Given the description of an element on the screen output the (x, y) to click on. 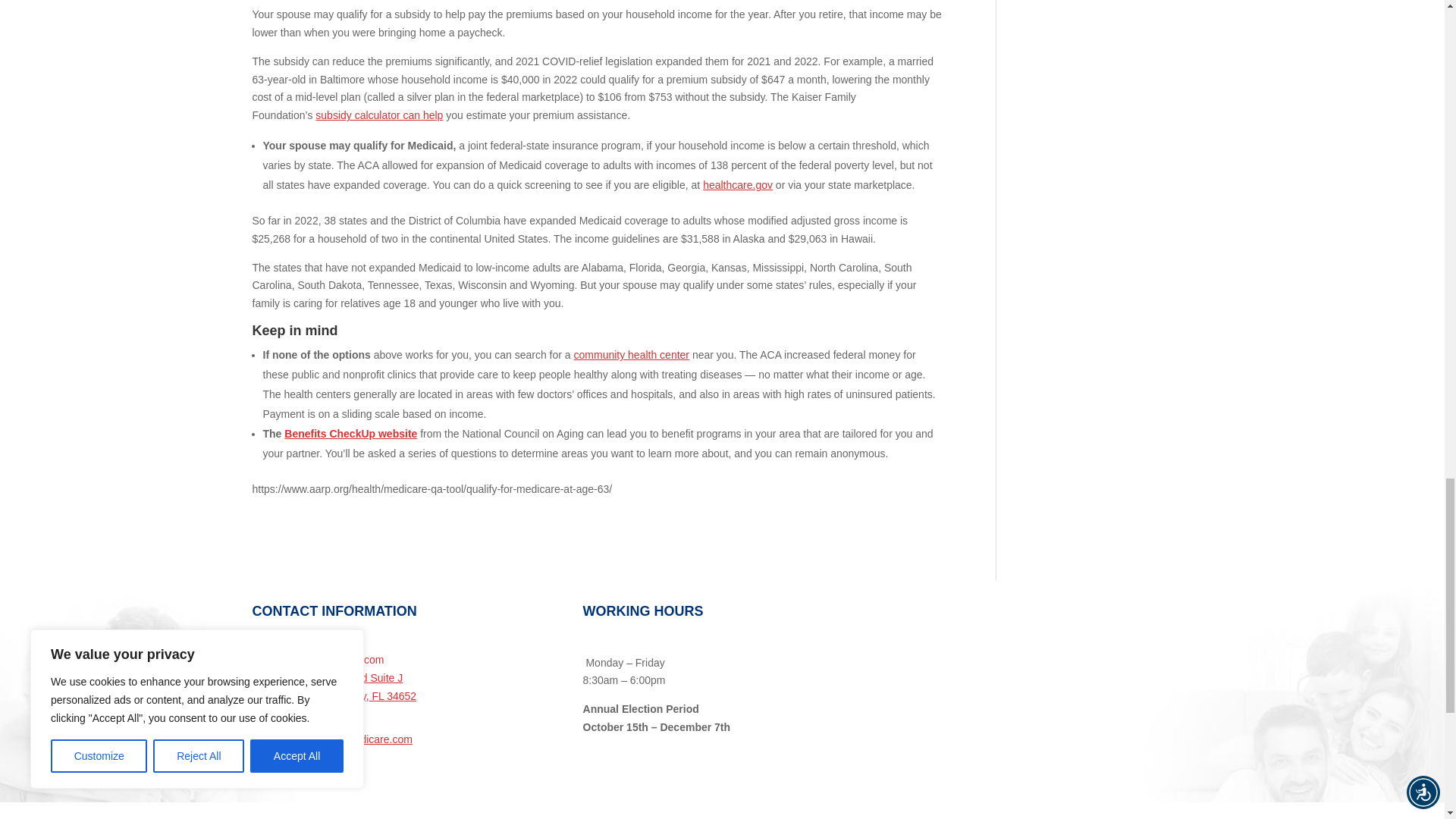
find a health center (631, 354)
KFF subsidy calculator (378, 114)
healthcare.gov (738, 184)
Benefits Checkup (349, 433)
